Given the description of an element on the screen output the (x, y) to click on. 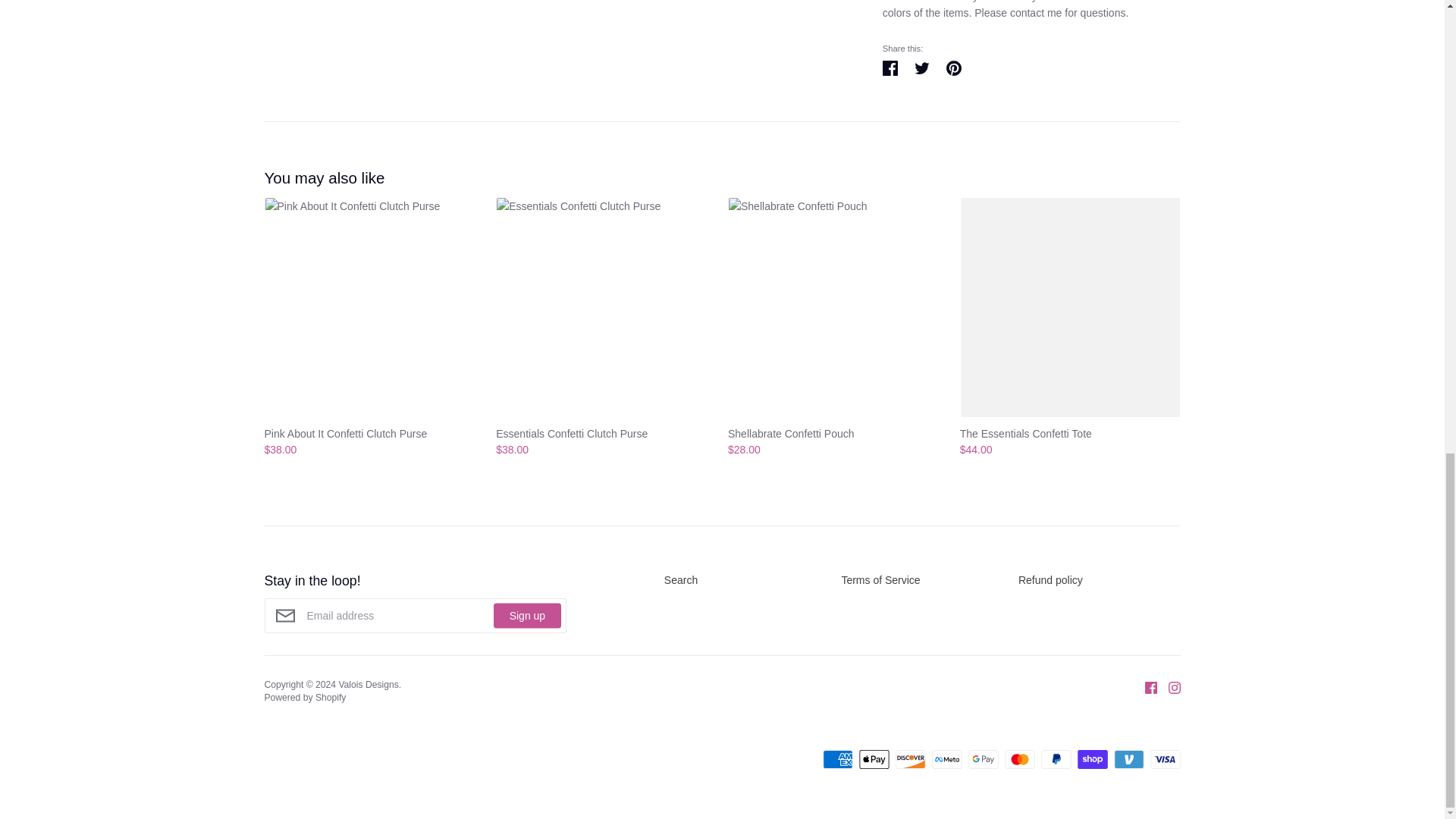
American Express (837, 759)
Facebook (1144, 686)
Shop Pay (1092, 759)
Meta Pay (946, 759)
Venmo (1128, 759)
Visa (1164, 759)
Mastercard (1019, 759)
Google Pay (983, 759)
Instagram (1168, 686)
Apple Pay (874, 759)
